Given the description of an element on the screen output the (x, y) to click on. 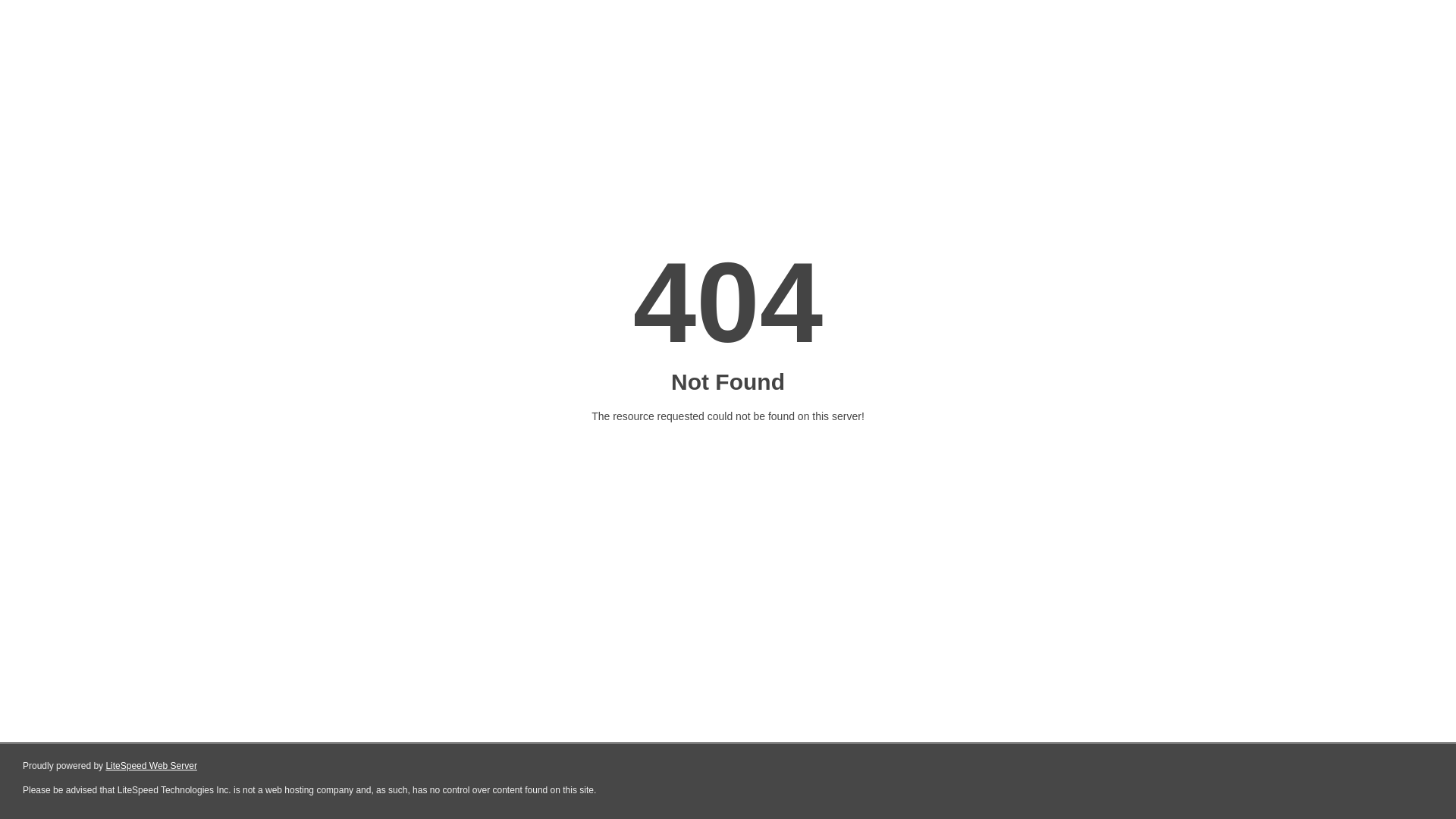
LiteSpeed Web Server Element type: text (151, 765)
